Given the description of an element on the screen output the (x, y) to click on. 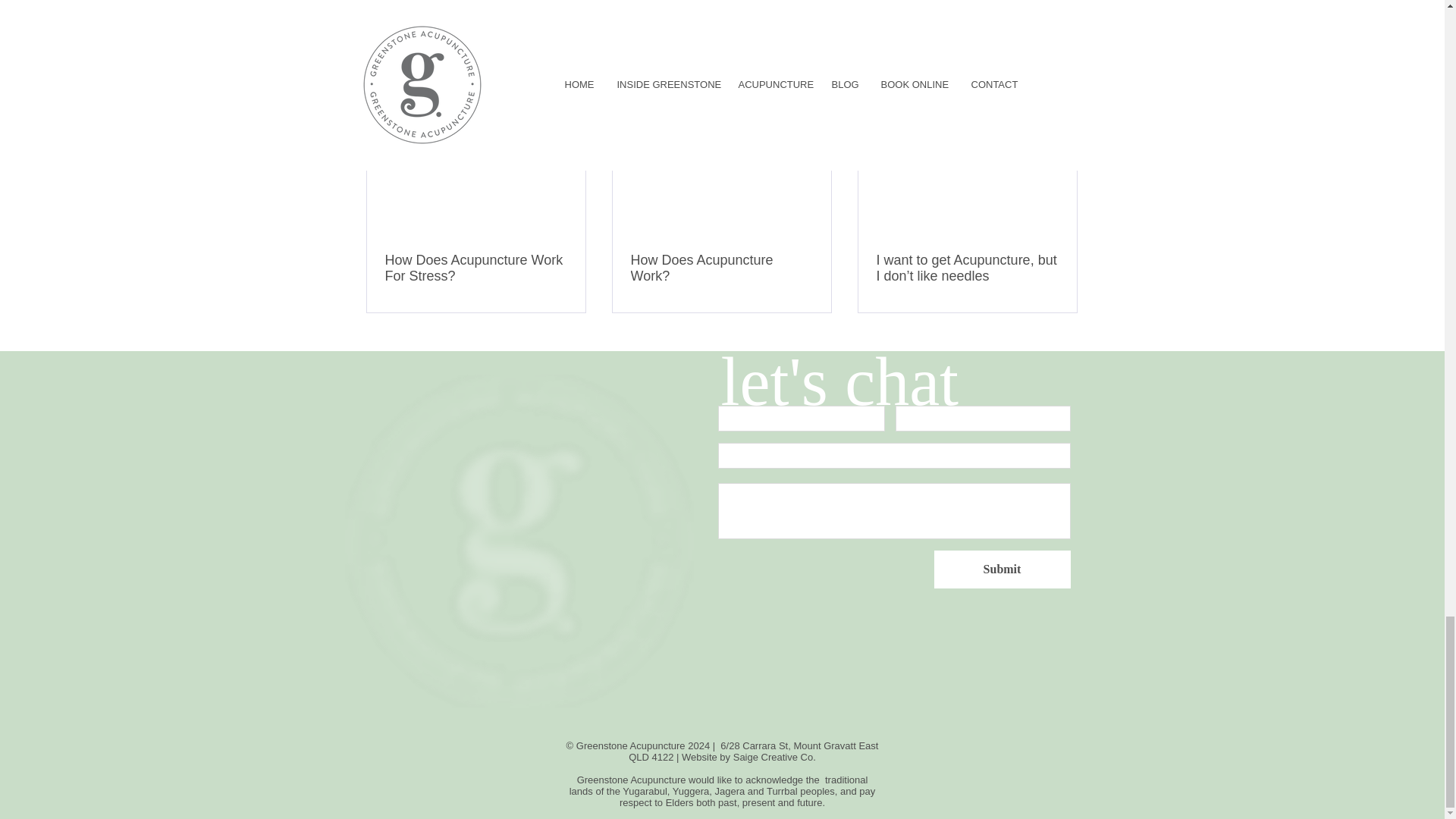
How Does Acupuncture Work For Stress? (476, 268)
Submit (1002, 569)
Website by Saige Creative Co. (748, 756)
How Does Acupuncture Work? (721, 268)
See All (1061, 84)
